Given the description of an element on the screen output the (x, y) to click on. 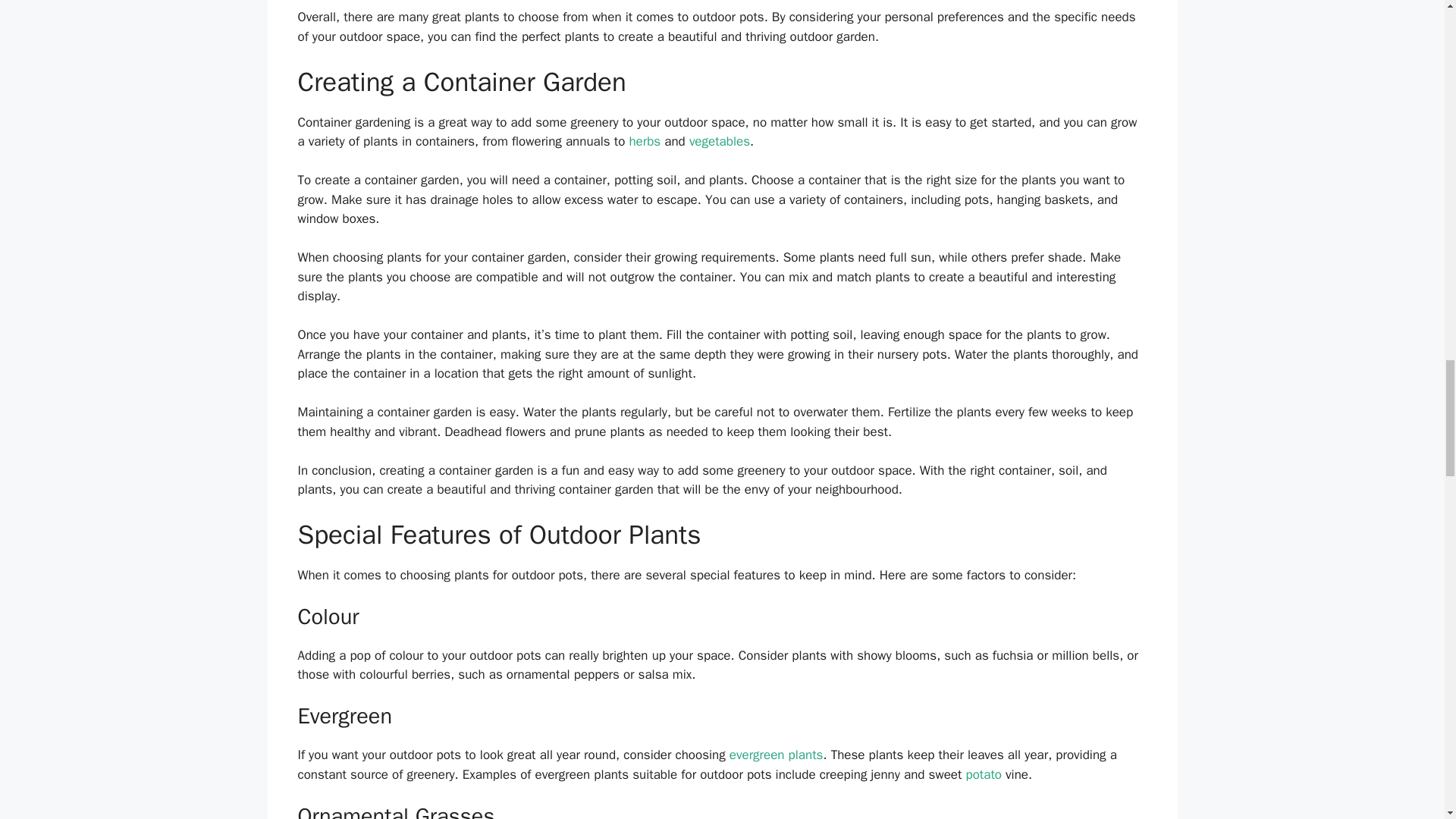
vegetables (718, 141)
herbs (644, 141)
potato (984, 774)
evergreen plants (776, 754)
